Given the description of an element on the screen output the (x, y) to click on. 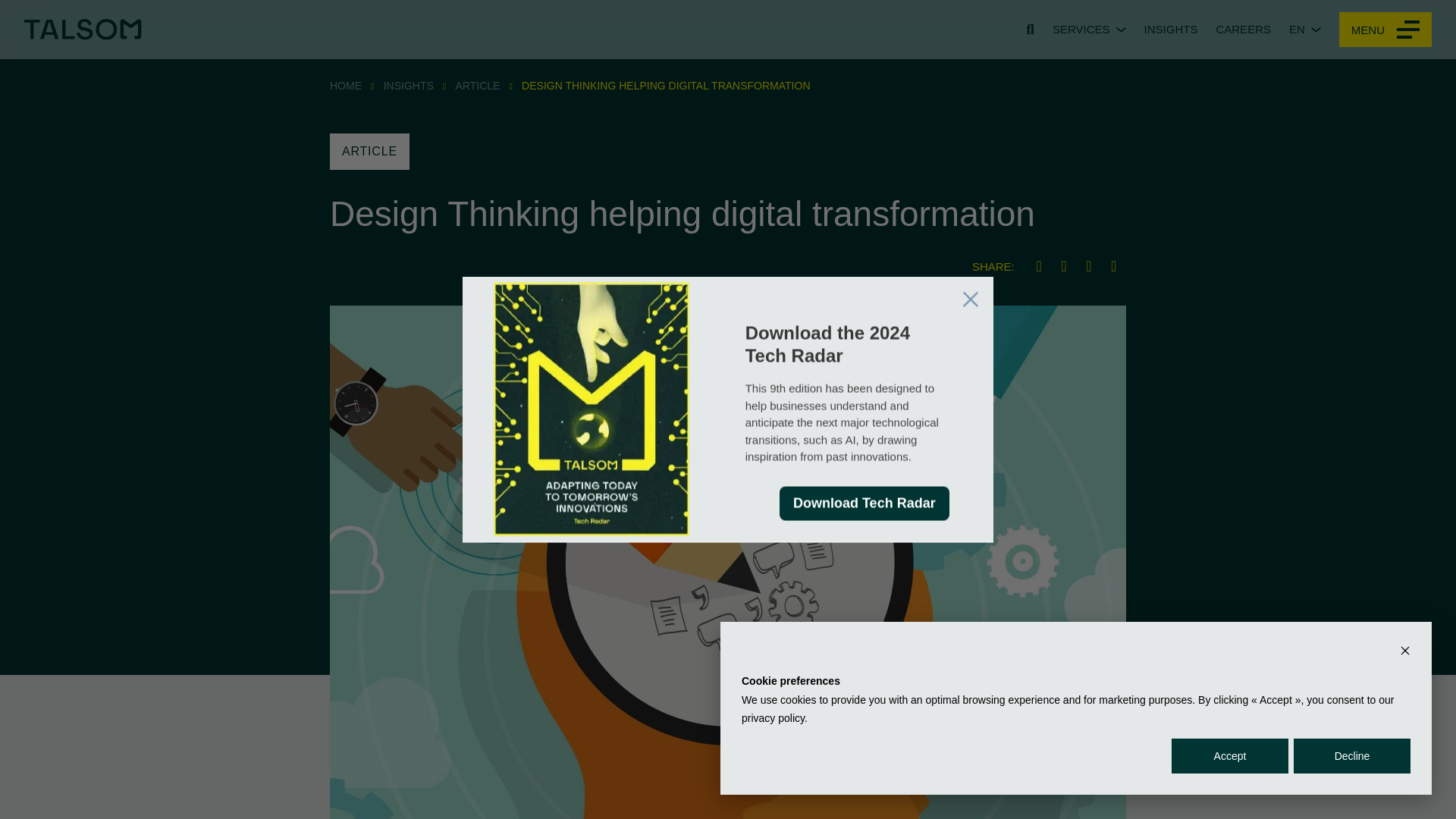
HOME (345, 85)
ARTICLE (369, 151)
EN (1304, 29)
ARTICLE (477, 85)
EN (1304, 29)
CAREERS (1243, 29)
SERVICES (1088, 29)
MENU (1385, 29)
INSIGHTS (1171, 29)
INSIGHTS (408, 85)
